Given the description of an element on the screen output the (x, y) to click on. 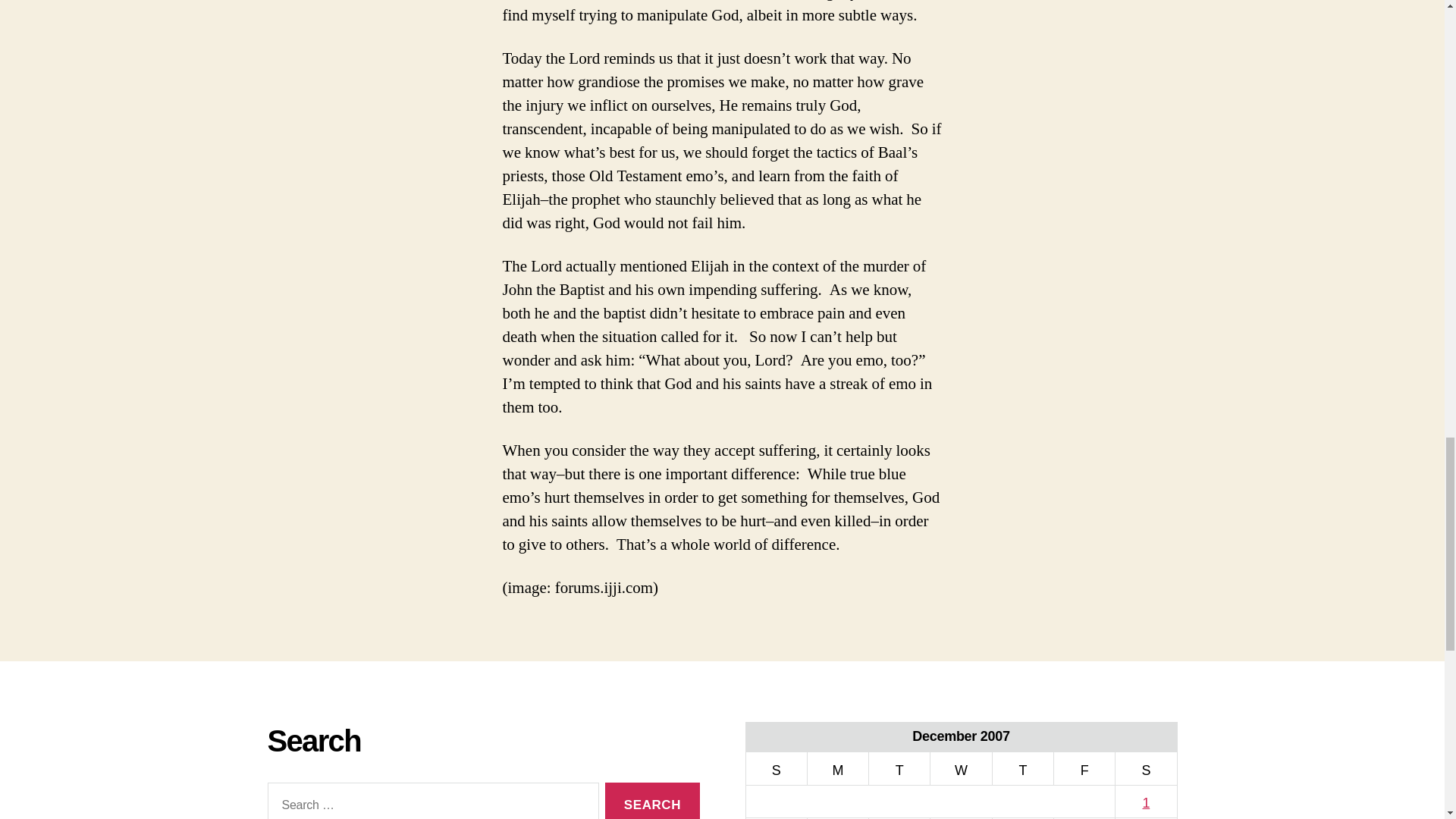
Search (651, 800)
Search (651, 800)
Sunday (775, 768)
Search (651, 800)
Tuesday (899, 768)
Wednesday (960, 768)
Saturday (1145, 768)
Monday (836, 768)
Thursday (1021, 768)
Friday (1083, 768)
